Given the description of an element on the screen output the (x, y) to click on. 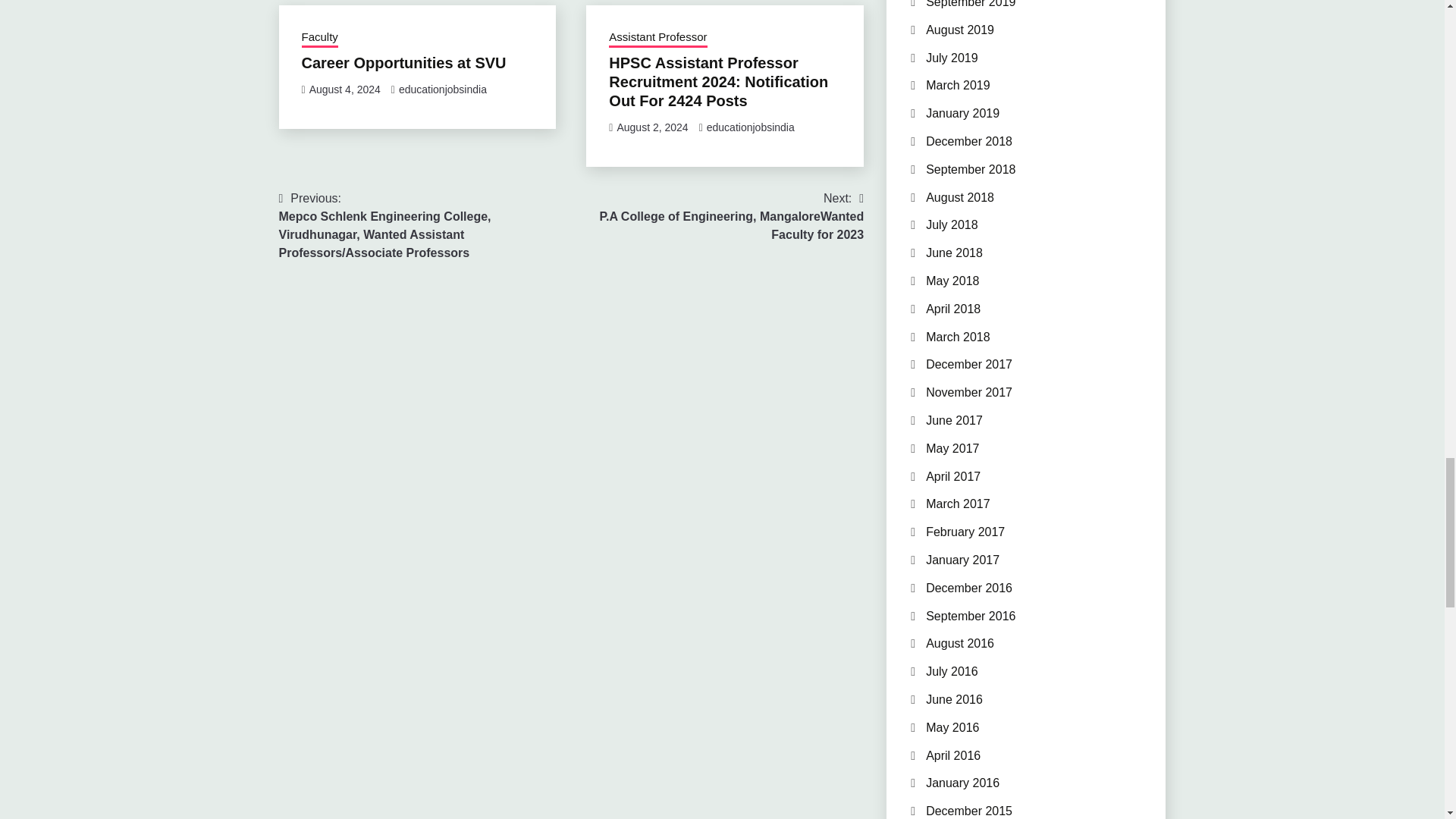
August 2, 2024 (651, 127)
educationjobsindia (750, 127)
Career Opportunities at SVU (403, 62)
August 4, 2024 (344, 89)
educationjobsindia (442, 89)
Faculty (319, 38)
Assistant Professor (657, 38)
